Given the description of an element on the screen output the (x, y) to click on. 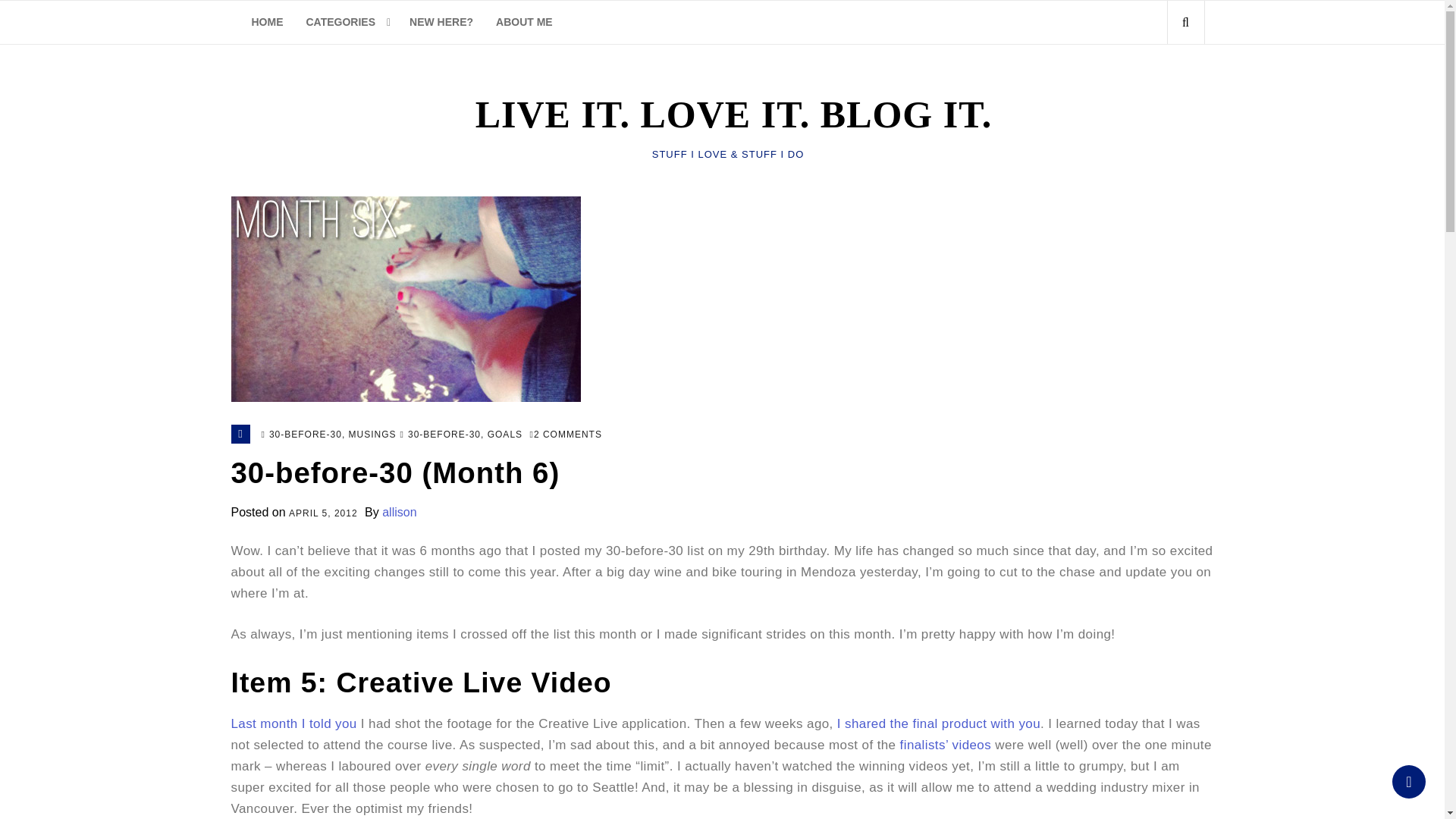
APRIL 5, 2012 (323, 514)
GOALS (504, 435)
Go to Top (1408, 781)
NEW HERE? (440, 22)
MUSINGS (372, 435)
30-BEFORE-30 (305, 435)
I shared the final product with you (939, 723)
HOME (267, 22)
Last month I told you (293, 723)
allison (398, 512)
30-BEFORE-30 (443, 435)
2 COMMENTS (565, 435)
Search (1158, 89)
CATEGORIES (345, 22)
ABOUT ME (524, 22)
